Given the description of an element on the screen output the (x, y) to click on. 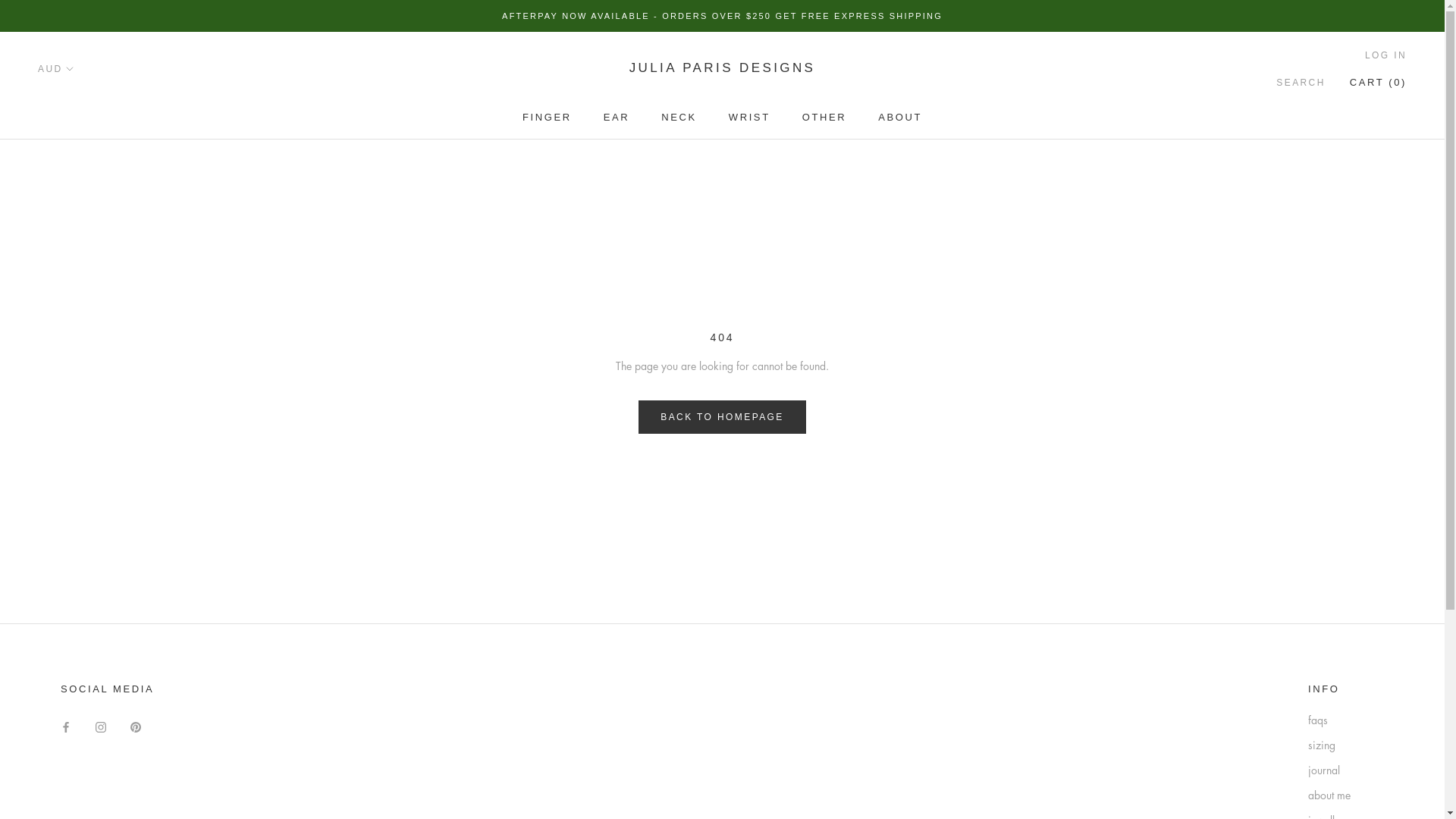
about me Element type: text (1345, 795)
WRIST Element type: text (749, 116)
sizing Element type: text (1345, 745)
JULIA PARIS DESIGNS Element type: text (722, 67)
EAR Element type: text (616, 116)
ABOUT Element type: text (900, 116)
SEARCH Element type: text (1300, 83)
FINGER Element type: text (546, 116)
LOG IN Element type: text (1385, 55)
faqs Element type: text (1345, 720)
journal Element type: text (1345, 770)
OTHER Element type: text (824, 116)
NECK Element type: text (678, 116)
BACK TO HOMEPAGE Element type: text (721, 416)
CART (0) Element type: text (1377, 81)
